Given the description of an element on the screen output the (x, y) to click on. 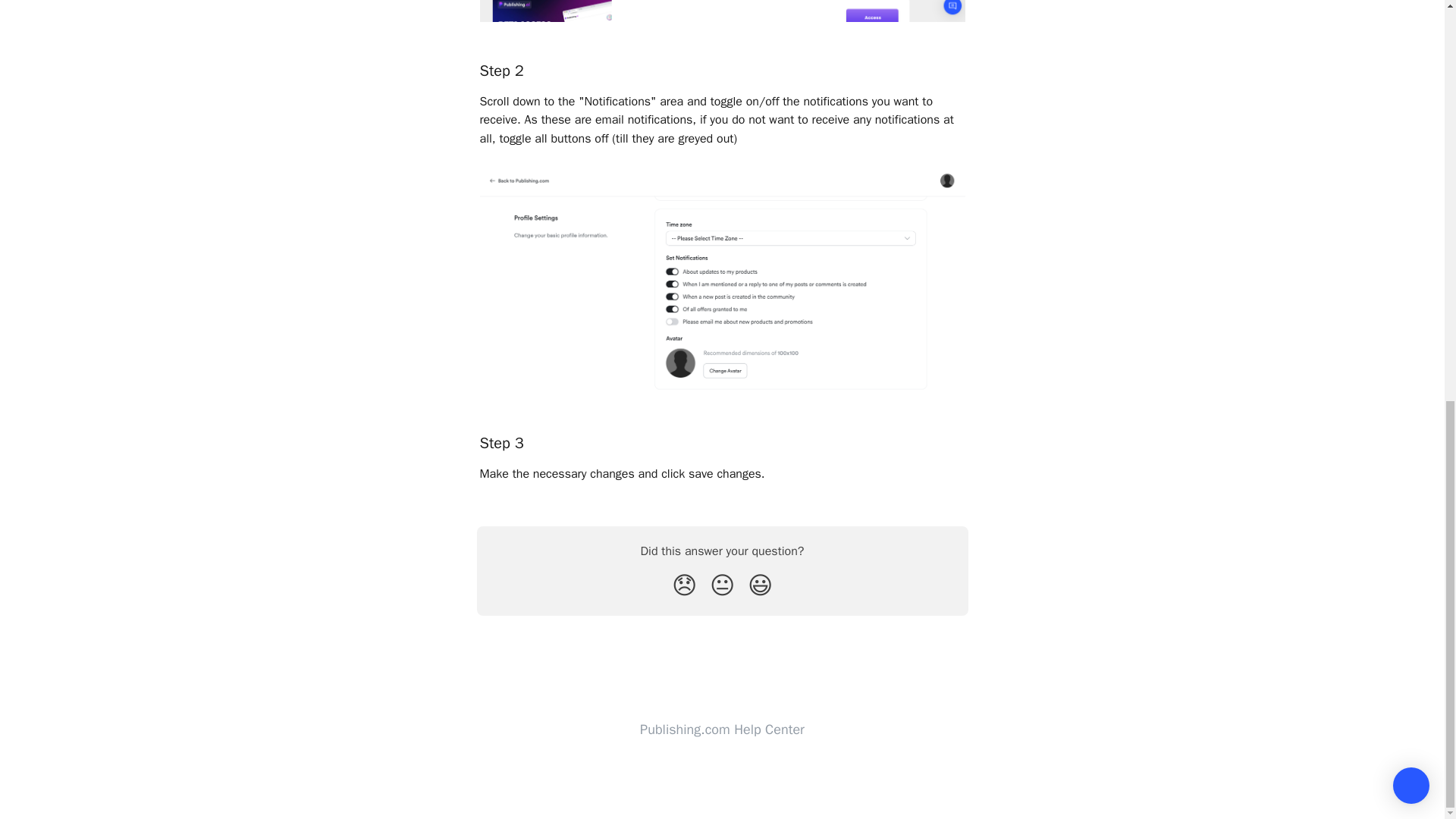
Publishing.com Help Center (722, 729)
